Given the description of an element on the screen output the (x, y) to click on. 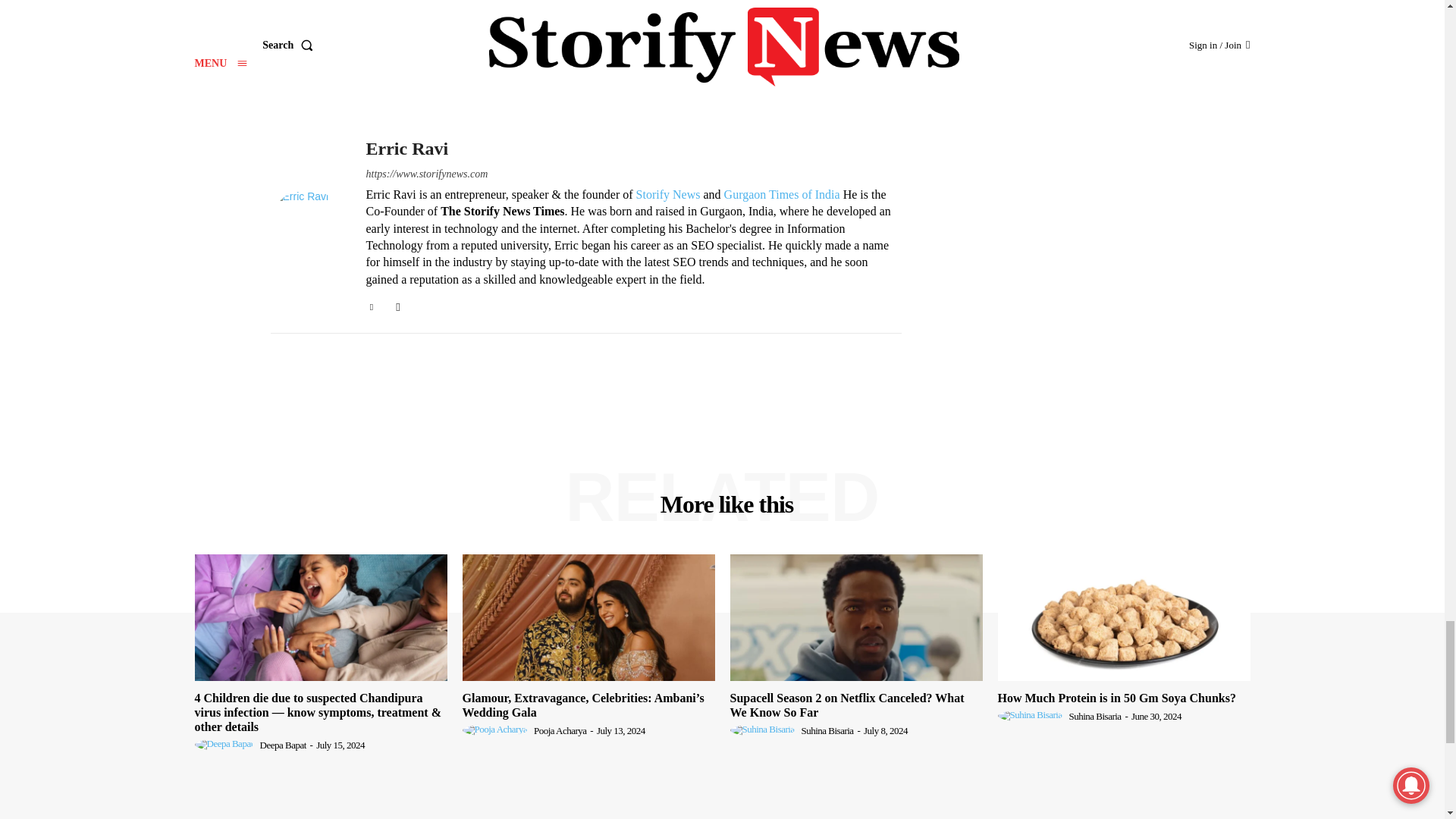
Website (398, 304)
Twitter (371, 304)
